Given the description of an element on the screen output the (x, y) to click on. 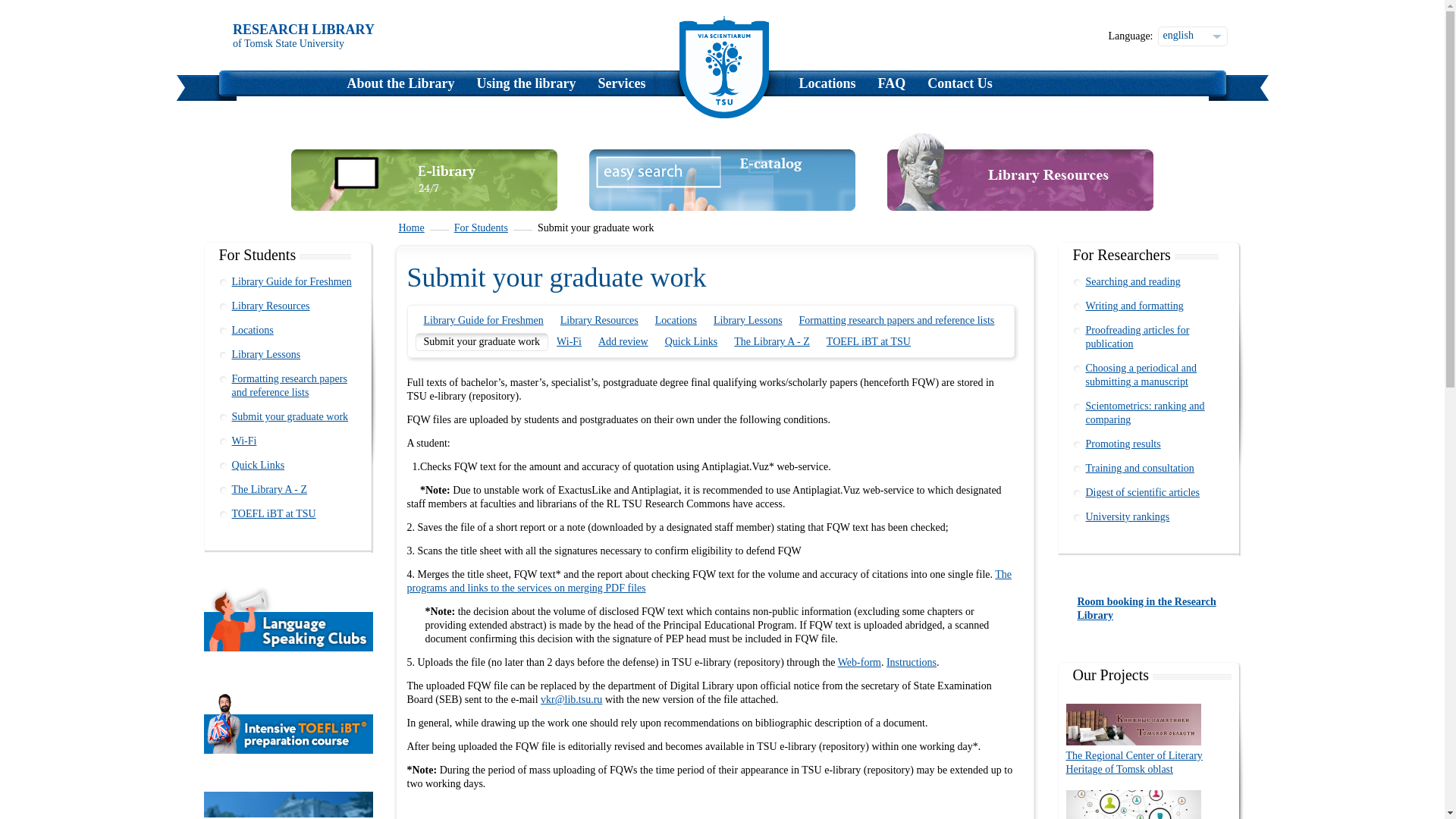
Library Lessons (288, 354)
Library Resources (288, 306)
Library Guide for Freshmen (288, 282)
Submit your graduate work (288, 416)
Formatting research papers and reference lists (288, 385)
Locations (288, 330)
About the Library (400, 84)
english (1192, 36)
Services (622, 84)
FAQ (892, 84)
Using the library (525, 84)
Locations (827, 84)
Contact Us (960, 84)
RESEARCH LIBRARY (303, 29)
